Given the description of an element on the screen output the (x, y) to click on. 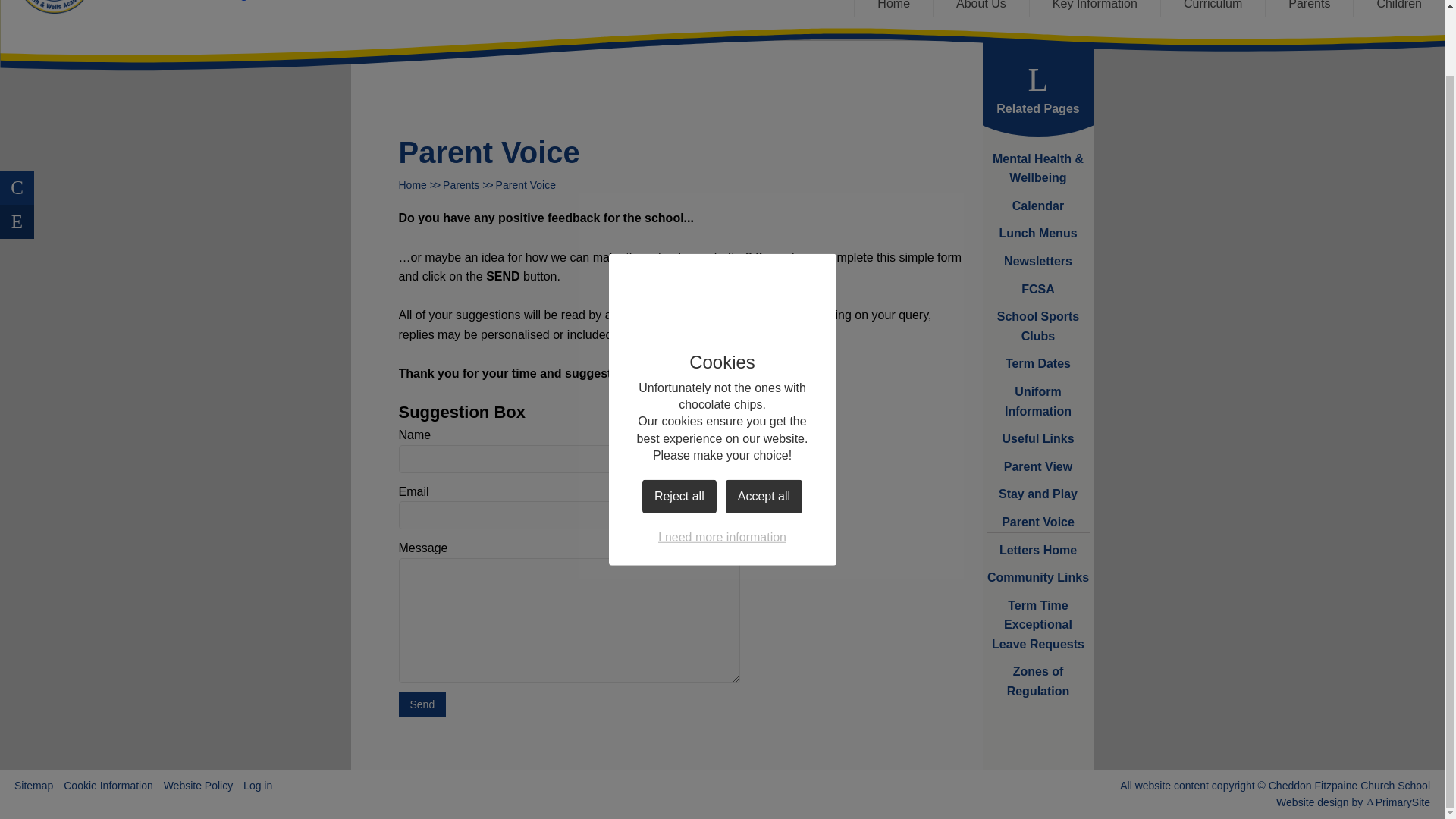
Home (893, 8)
Home Page (54, 6)
Curriculum (1212, 8)
Key Information (1094, 8)
About Us (981, 8)
